Given the description of an element on the screen output the (x, y) to click on. 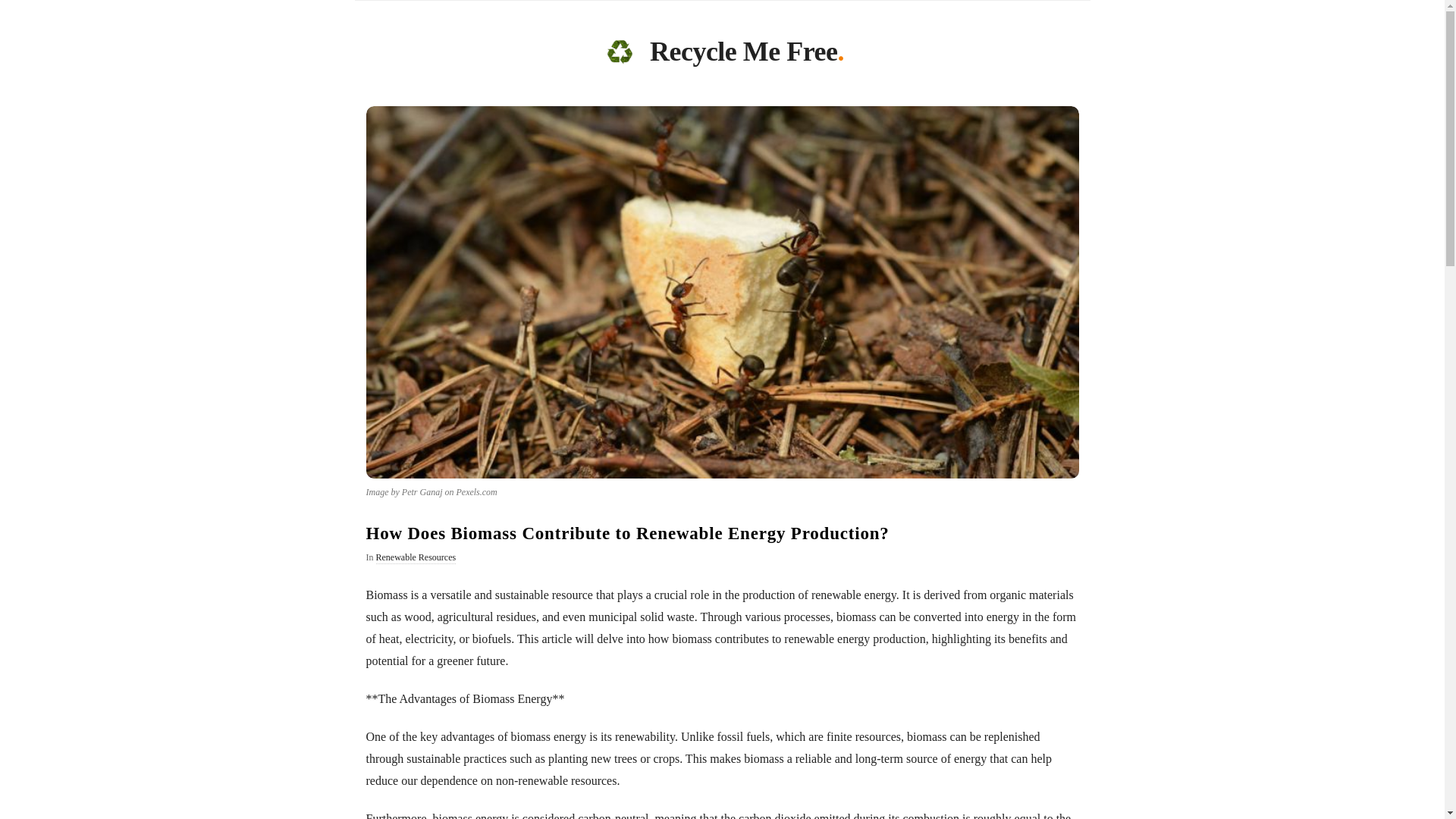
Recycle Me Free (743, 55)
Renewable Resources (416, 558)
Recycle Me Free (743, 55)
Recycle Me Free (619, 51)
